Given the description of an element on the screen output the (x, y) to click on. 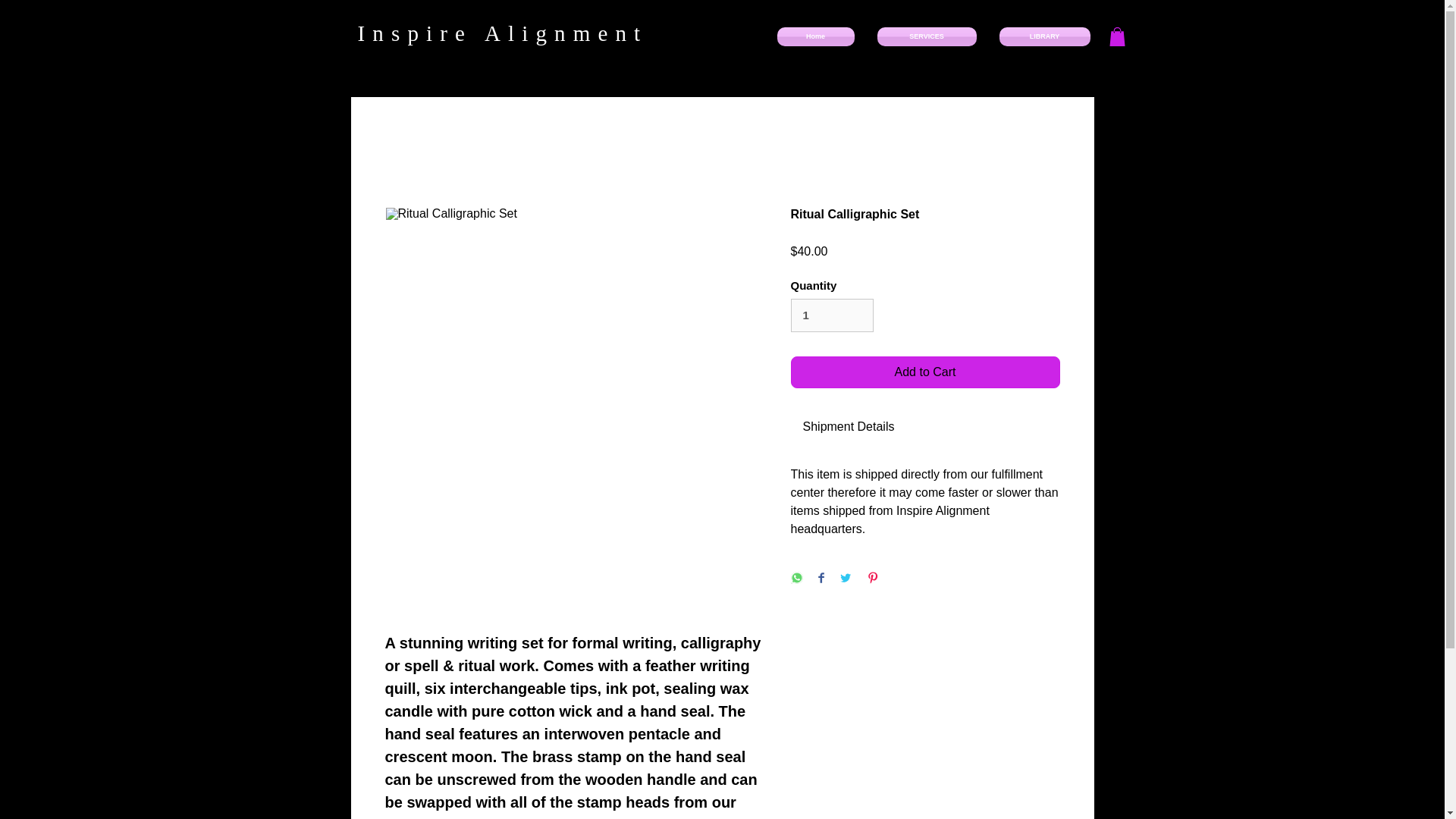
Home (820, 36)
LIBRARY (1038, 36)
1 (831, 315)
Use right and left arrows to navigate between tabs (848, 426)
Add to Cart (924, 372)
SERVICES (927, 36)
